Given the description of an element on the screen output the (x, y) to click on. 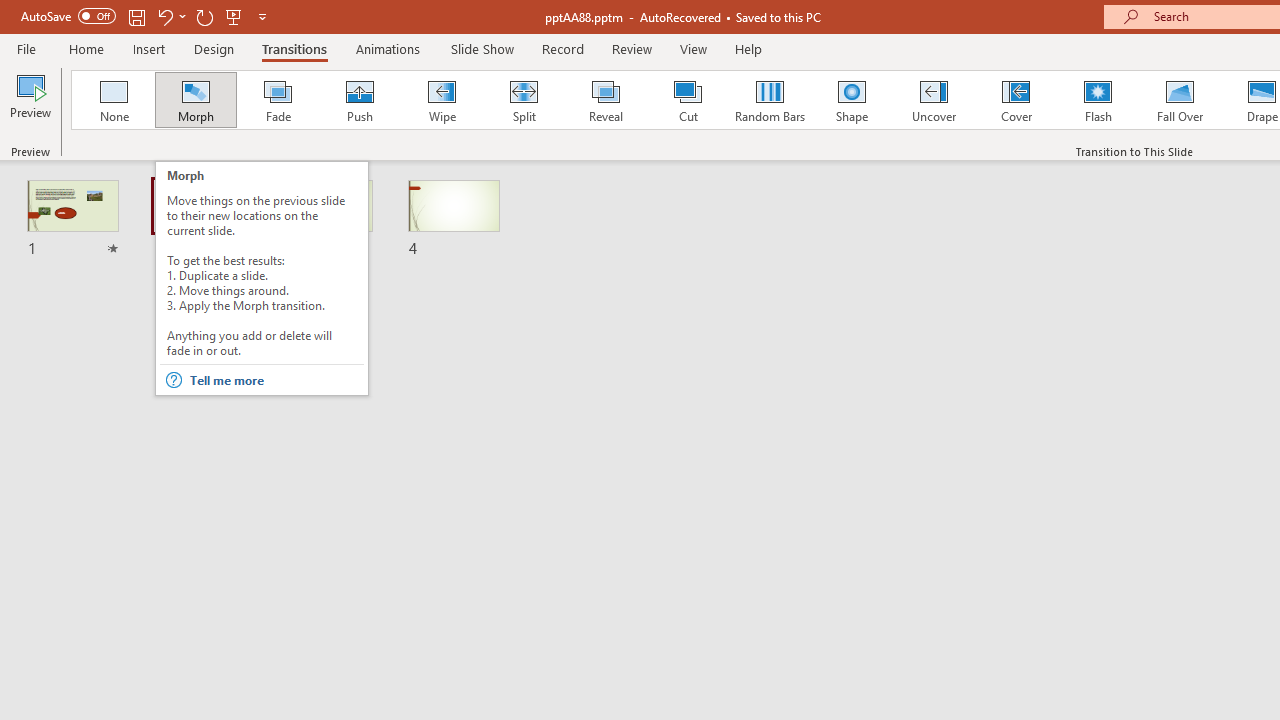
Cover (1016, 100)
